Given the description of an element on the screen output the (x, y) to click on. 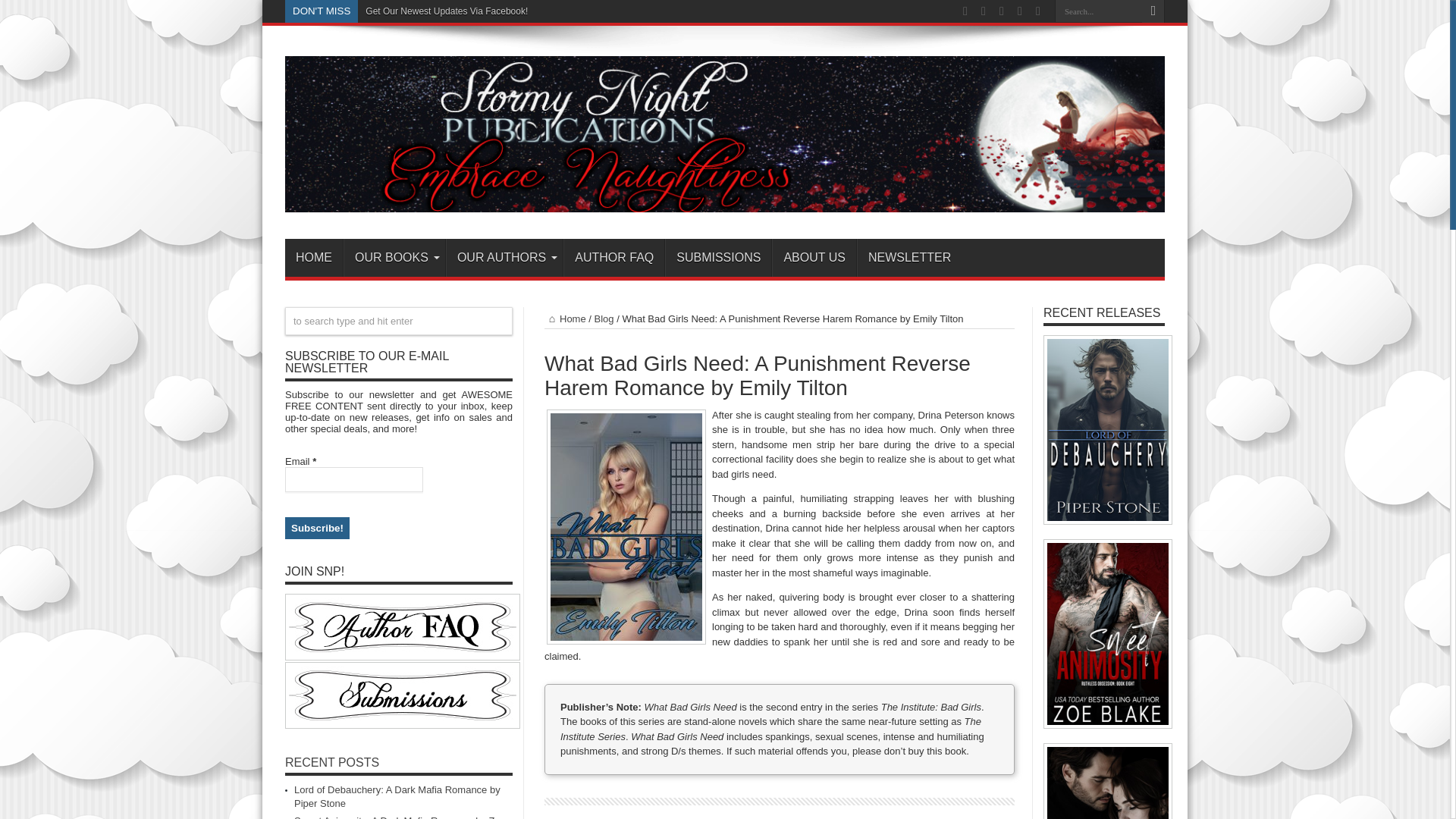
Get Our Newest Updates Via Facebook! (446, 11)
to search type and hit enter (398, 320)
Get Our Newest Updates Via Facebook! (446, 11)
OUR BOOKS (394, 257)
Subscribe! (317, 527)
Stormy Night Publications (724, 200)
OUR AUTHORS (503, 257)
Search (1152, 11)
Email (354, 479)
HOME (313, 257)
Search... (1097, 11)
